Given the description of an element on the screen output the (x, y) to click on. 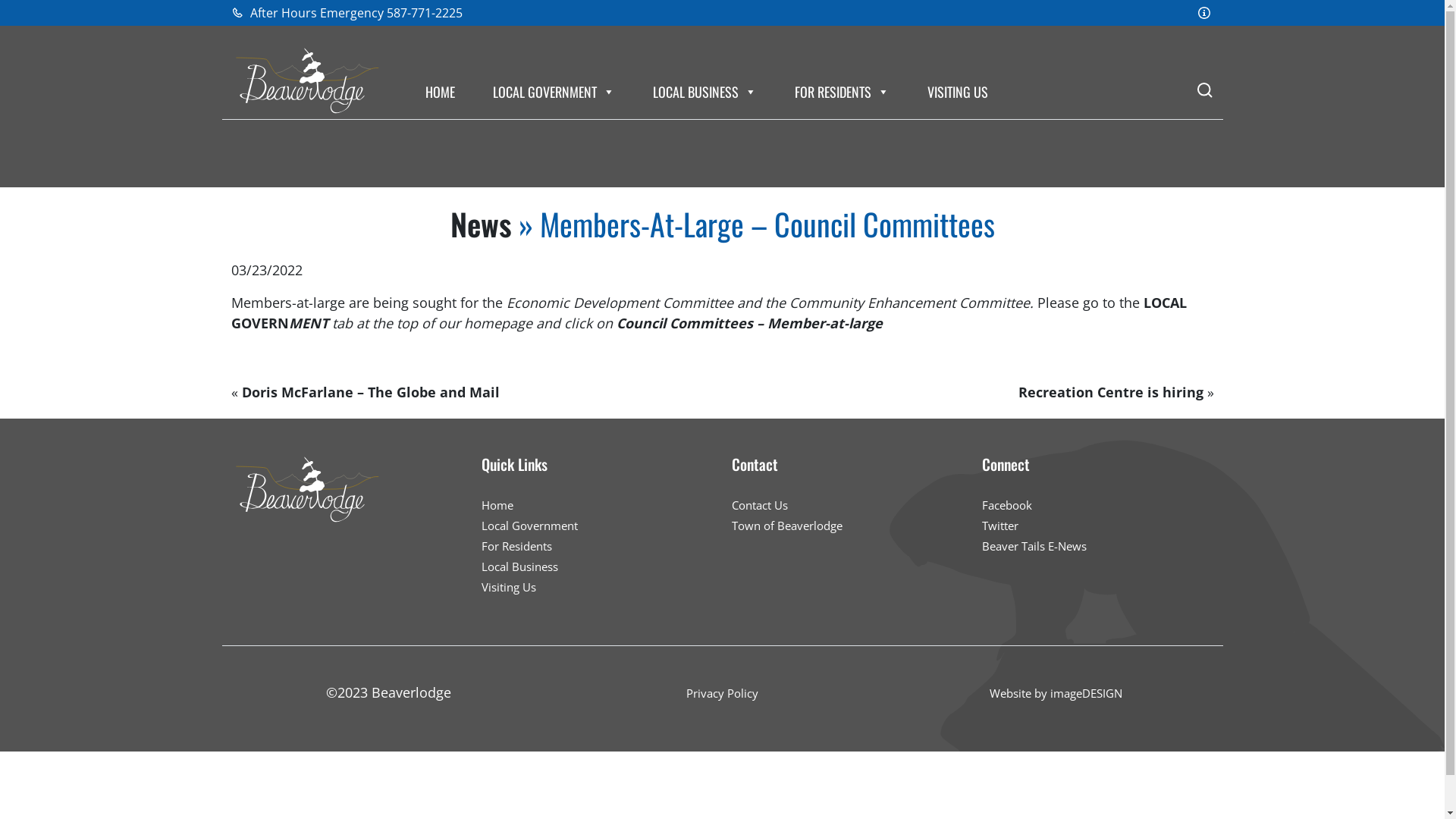
For Residents Element type: text (515, 545)
Beaver Tails E-News Element type: text (1033, 545)
Twitter Element type: text (999, 525)
VISITING US Element type: text (956, 91)
Local Government Element type: text (528, 525)
HOME Element type: text (439, 91)
Visiting Us Element type: text (507, 586)
Privacy Policy Element type: text (722, 692)
Website by imageDESIGN Element type: text (1055, 692)
News Element type: text (480, 223)
Recreation Centre is hiring Element type: text (1109, 391)
LOCAL GOVERNMENT Element type: text (553, 91)
LOCAL BUSINESS Element type: text (703, 91)
FOR RESIDENTS Element type: text (842, 91)
Facebook Element type: text (1006, 504)
Home Element type: text (496, 504)
After Hours Emergency 587-771-2225 Element type: text (345, 12)
Town of Beaverlodge Element type: text (786, 525)
Local Business Element type: text (518, 566)
Contact Us Element type: text (759, 504)
